Given the description of an element on the screen output the (x, y) to click on. 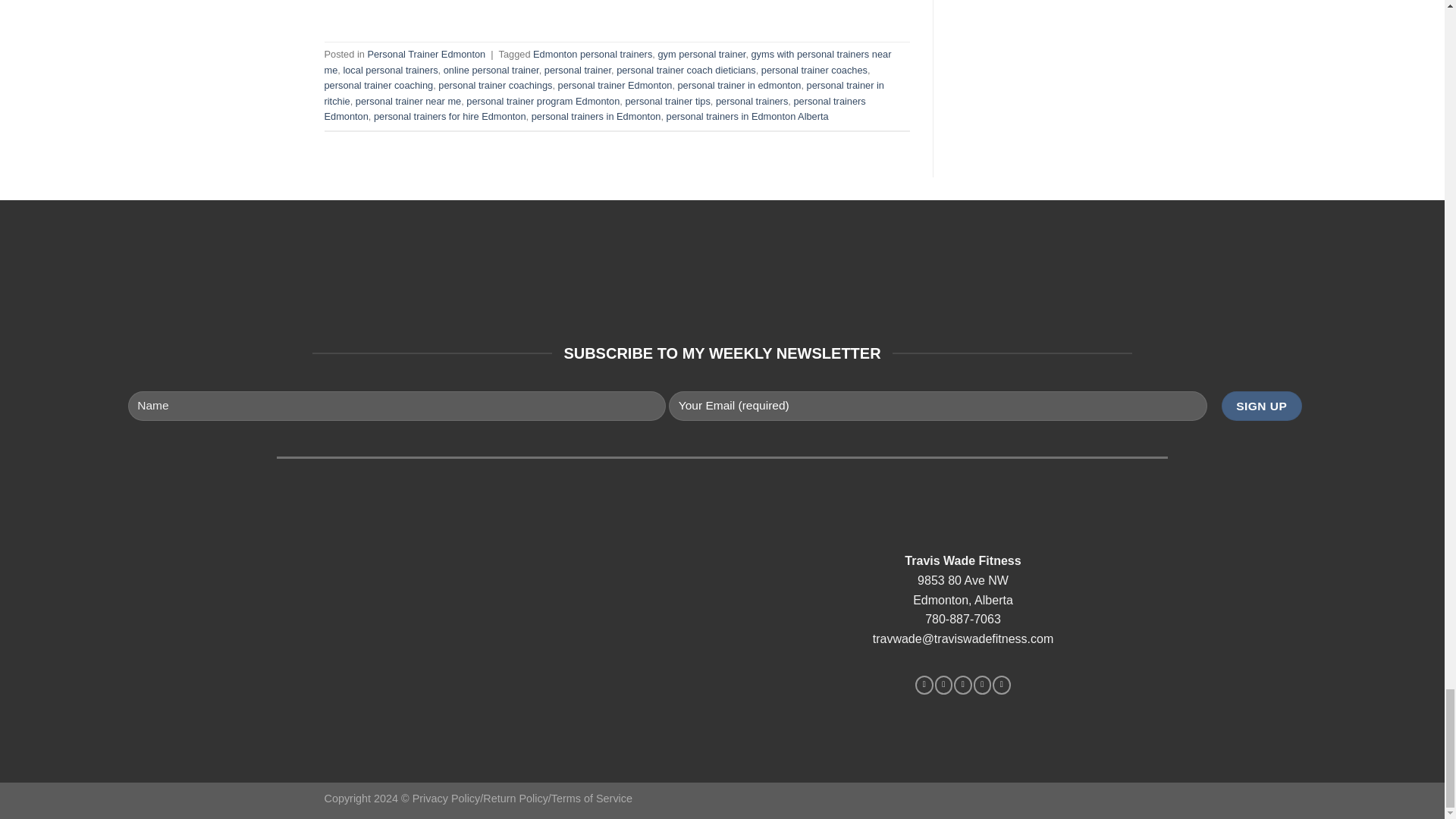
Follow on TikTok (962, 684)
Follow on YouTube (1001, 684)
gym personal trainer (701, 53)
local personal trainers (390, 70)
Follow on X (982, 684)
gyms with personal trainers near me (607, 61)
online personal trainer (491, 70)
Sign Up (1261, 405)
Personal Trainer Edmonton (425, 53)
Follow on Facebook (924, 684)
